Given the description of an element on the screen output the (x, y) to click on. 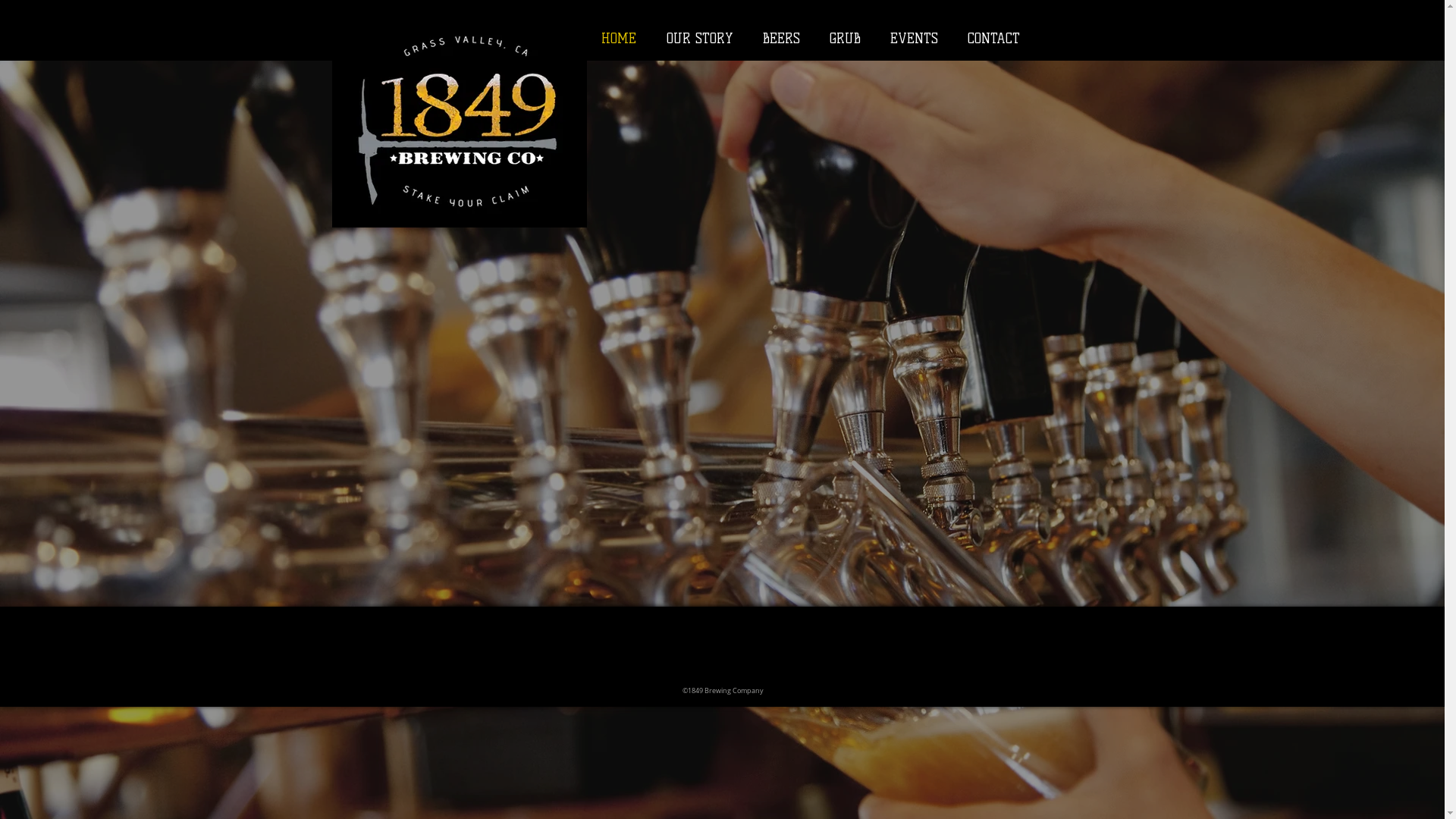
OUR STORY Element type: text (698, 38)
CONTACT Element type: text (993, 38)
Restaurant Social Bar Element type: hover (722, 666)
BEERS Element type: text (781, 38)
21E74F19-81CC-4A27-B4B8-B327B5096544_1_201_a.jpeg Element type: hover (459, 117)
GRUB Element type: text (844, 38)
EVENTS Element type: text (913, 38)
HOME Element type: text (617, 38)
